Given the description of an element on the screen output the (x, y) to click on. 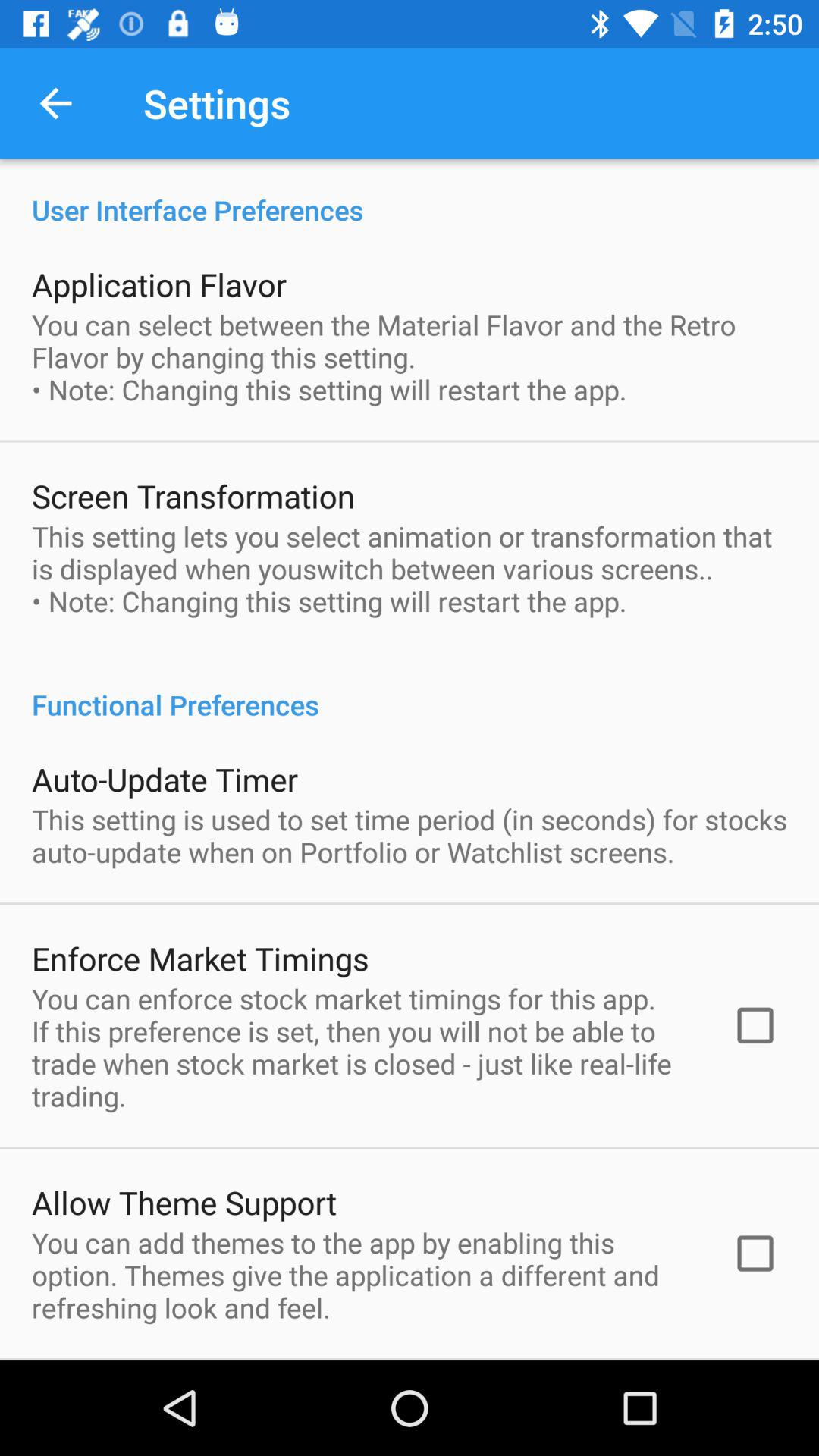
launch the item above the you can add item (183, 1201)
